Given the description of an element on the screen output the (x, y) to click on. 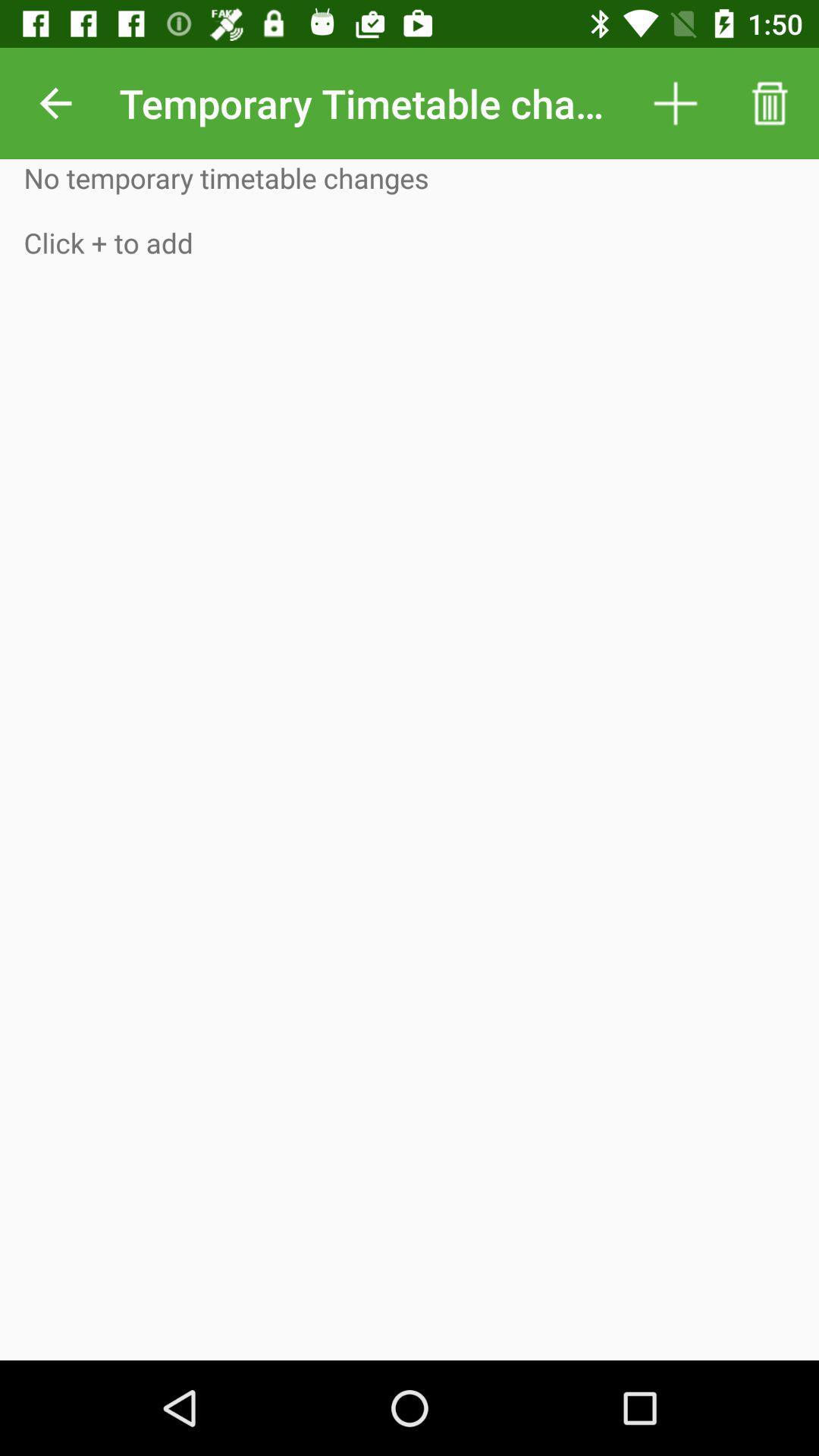
turn off item next to the temporary timetable changes icon (675, 103)
